Given the description of an element on the screen output the (x, y) to click on. 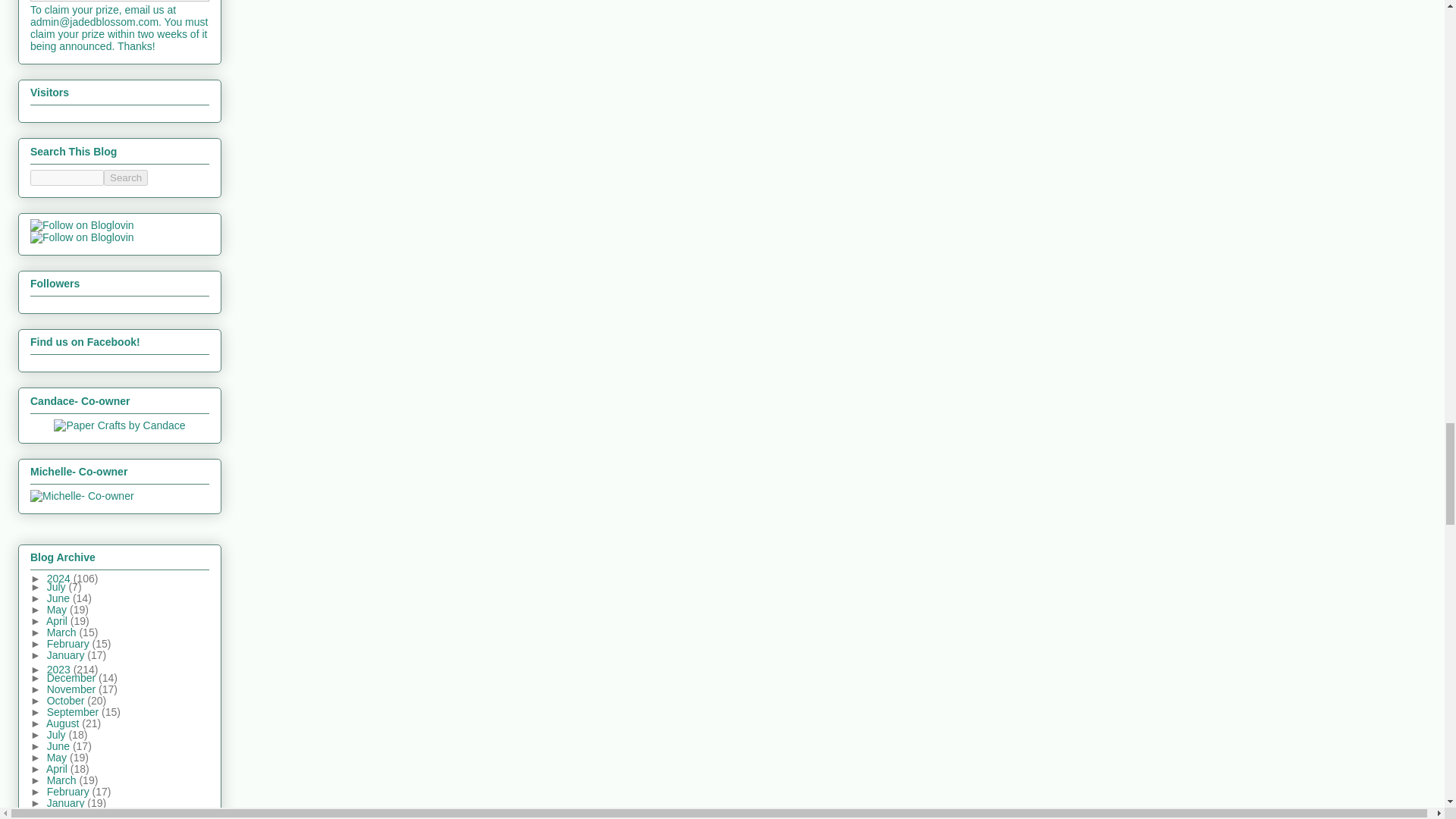
Search (125, 177)
Search (125, 177)
